Given the description of an element on the screen output the (x, y) to click on. 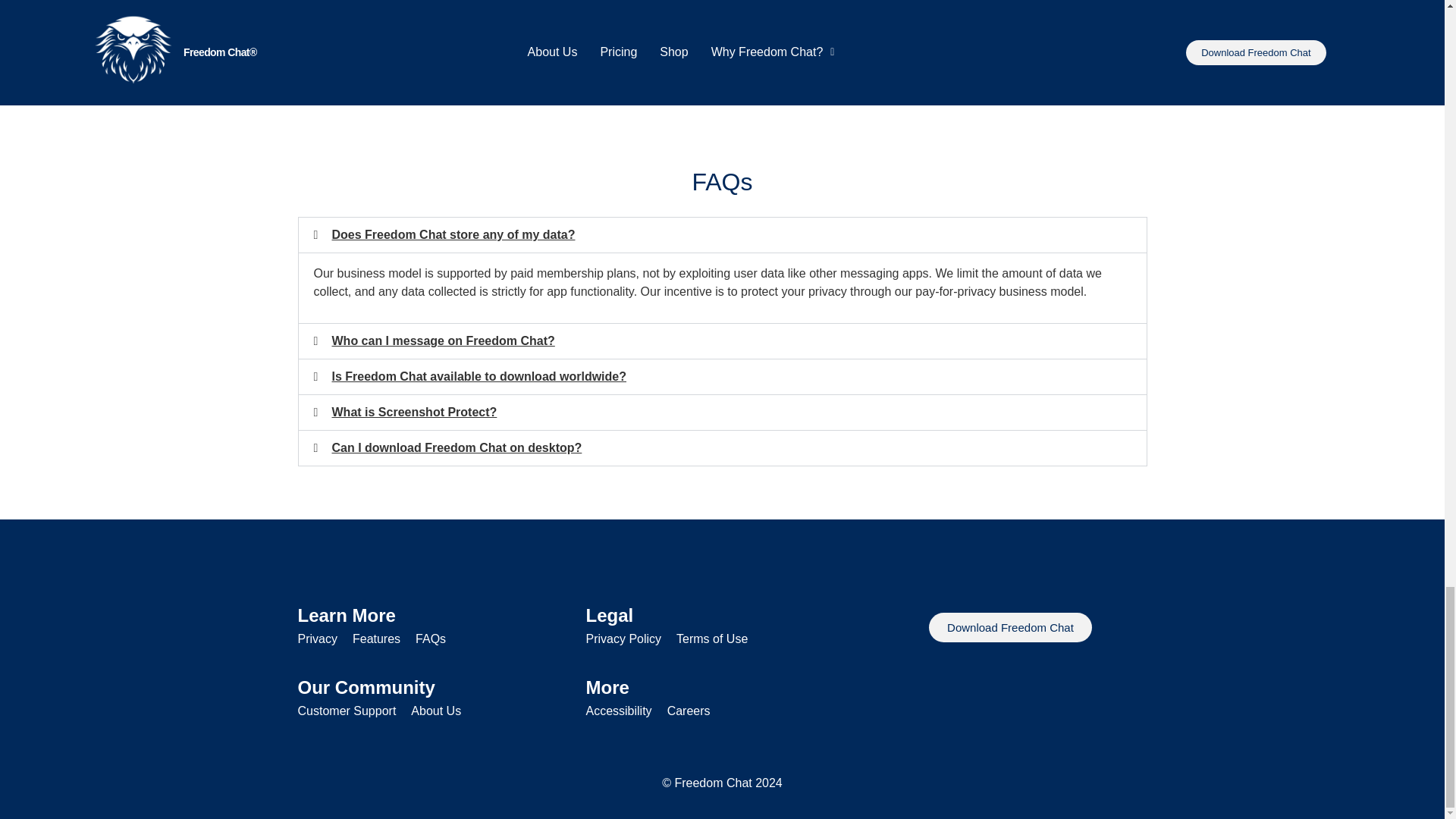
Terms of Use (712, 638)
Does Freedom Chat store any of my data? (453, 234)
Can I download Freedom Chat on desktop? (456, 447)
Features (376, 638)
Privacy Policy (623, 638)
Customer Support (346, 710)
About Us (435, 710)
Privacy (316, 638)
Careers (688, 710)
Who can I message on Freedom Chat? (442, 340)
